Given the description of an element on the screen output the (x, y) to click on. 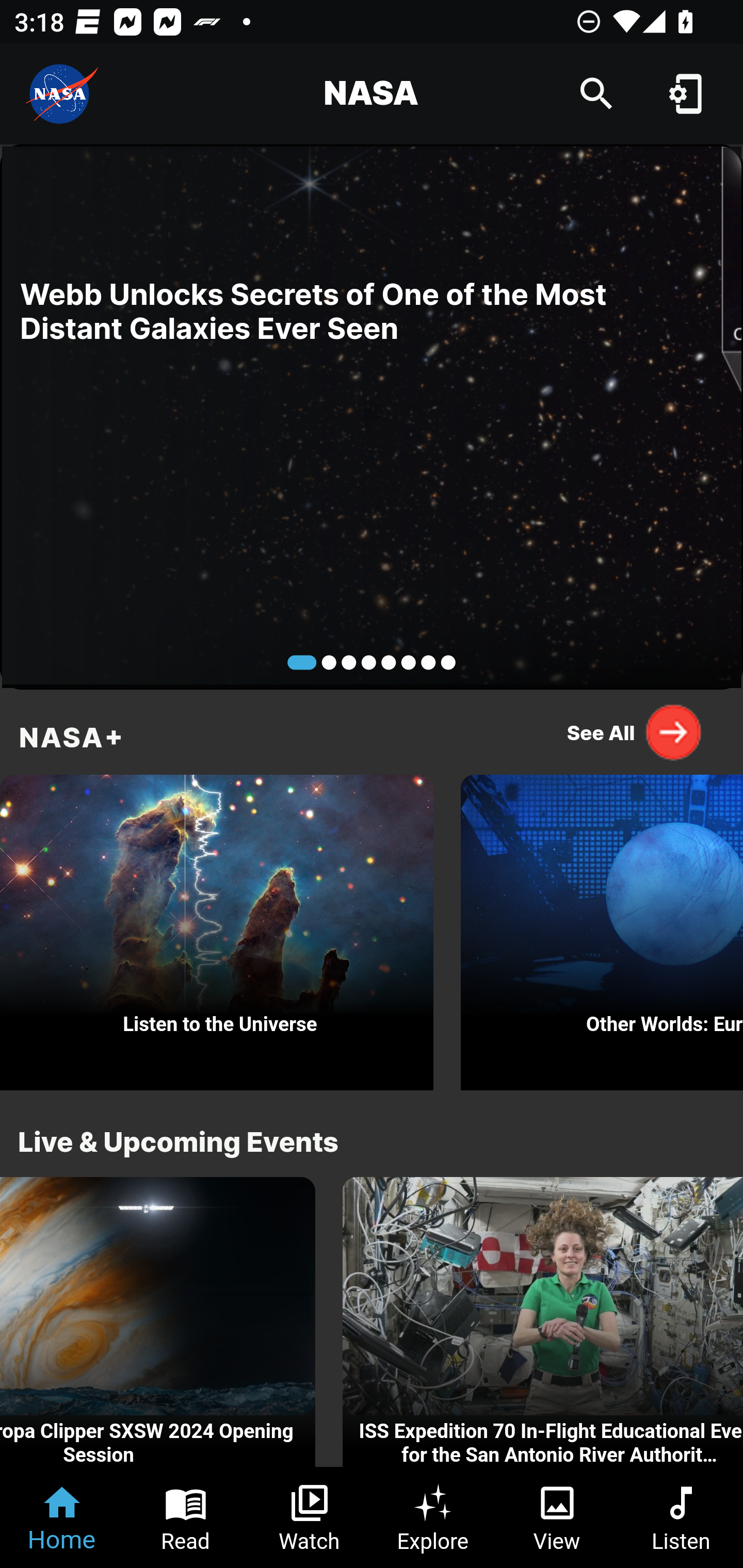
See All (634, 732)
Listen to the Universe (216, 927)
Other Worlds: Europa (601, 927)
NASA's Europa Clipper SXSW 2024 Opening Session (157, 1322)
Home
Tab 1 of 6 (62, 1517)
Read
Tab 2 of 6 (185, 1517)
Watch
Tab 3 of 6 (309, 1517)
Explore
Tab 4 of 6 (433, 1517)
View
Tab 5 of 6 (556, 1517)
Listen
Tab 6 of 6 (680, 1517)
